Given the description of an element on the screen output the (x, y) to click on. 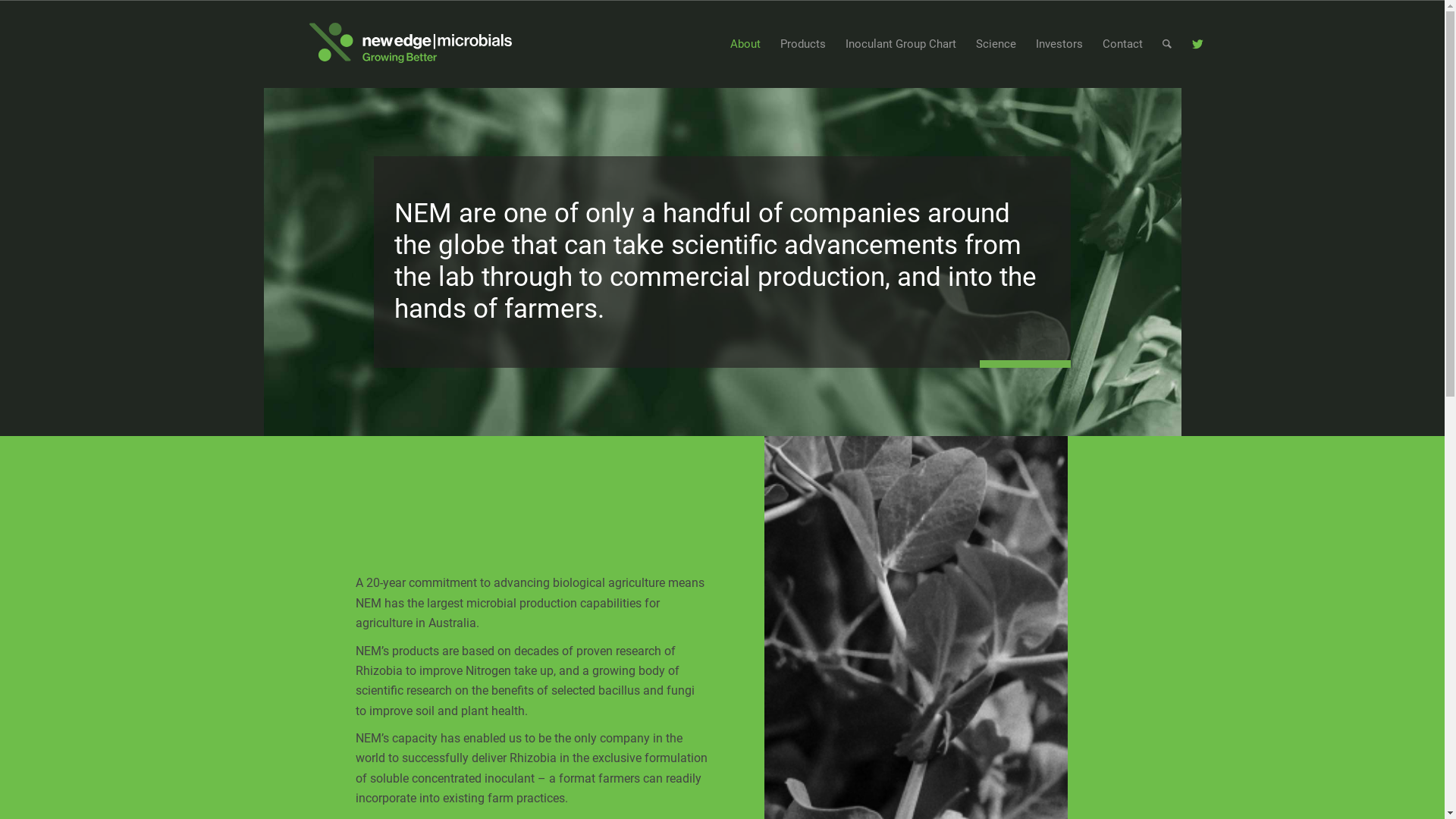
Investors Element type: text (1058, 43)
Twitter Element type: hover (1197, 43)
Science Element type: text (996, 43)
About Element type: text (745, 43)
Products Element type: text (802, 43)
Contact Element type: text (1121, 43)
Inoculant Group Chart Element type: text (900, 43)
